Given the description of an element on the screen output the (x, y) to click on. 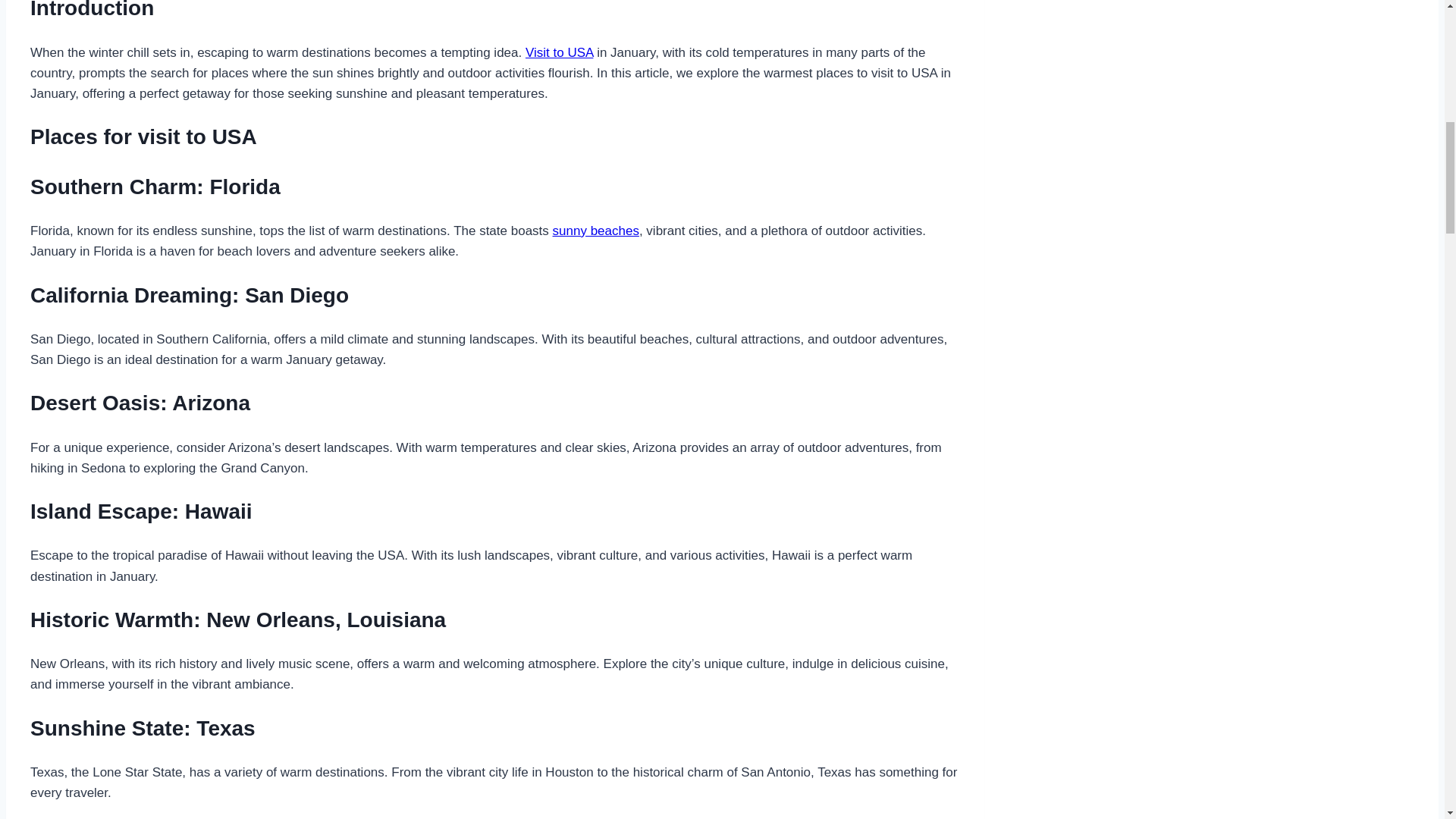
sunny beaches (596, 230)
Visit to USA (558, 52)
